Given the description of an element on the screen output the (x, y) to click on. 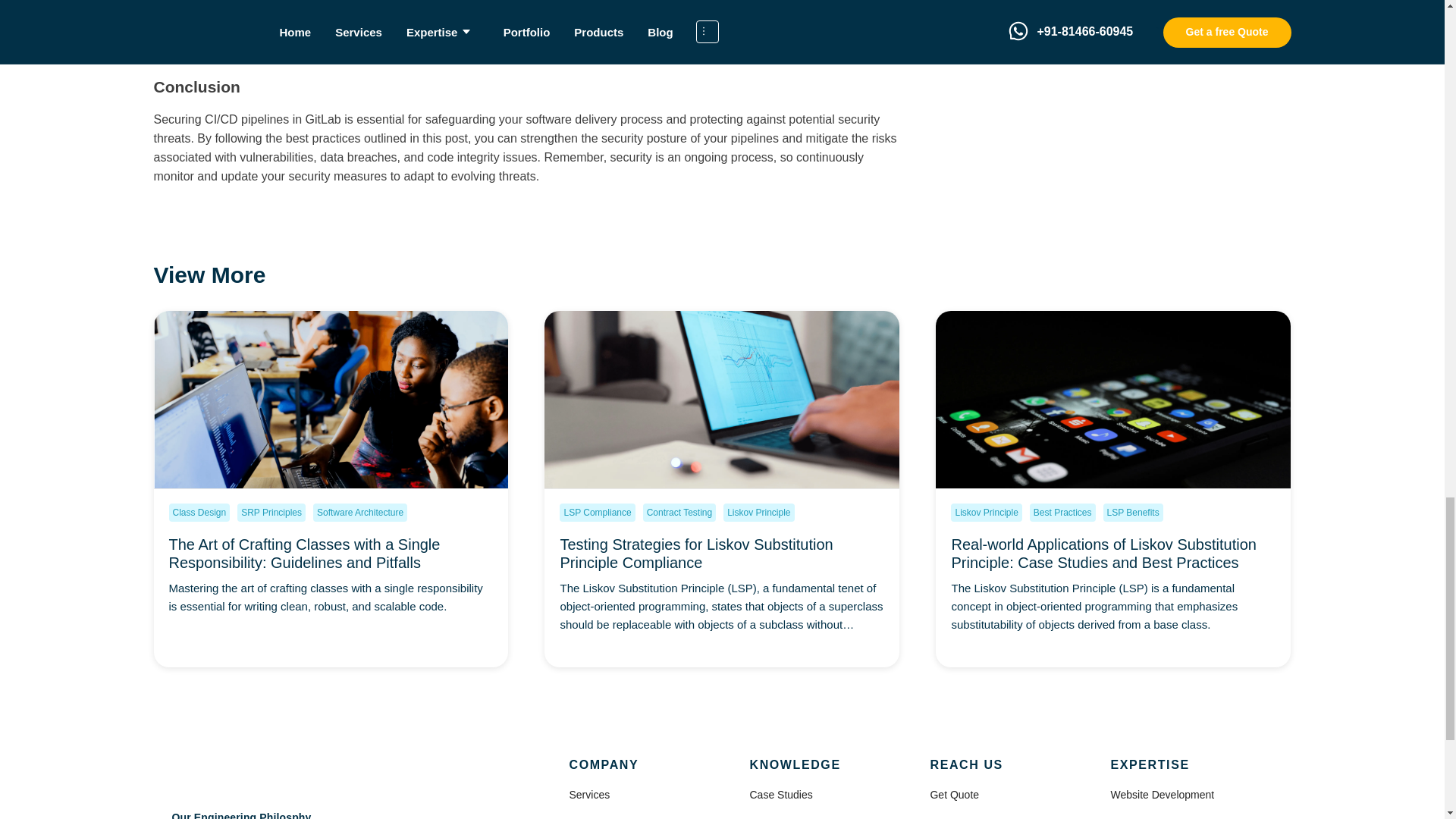
Feature Request (969, 817)
FAQs (762, 817)
Cloud Development (1156, 817)
Services (589, 794)
Portfolio (588, 817)
Case Studies (780, 794)
Website Development (1161, 794)
Get Quote (954, 794)
